Given the description of an element on the screen output the (x, y) to click on. 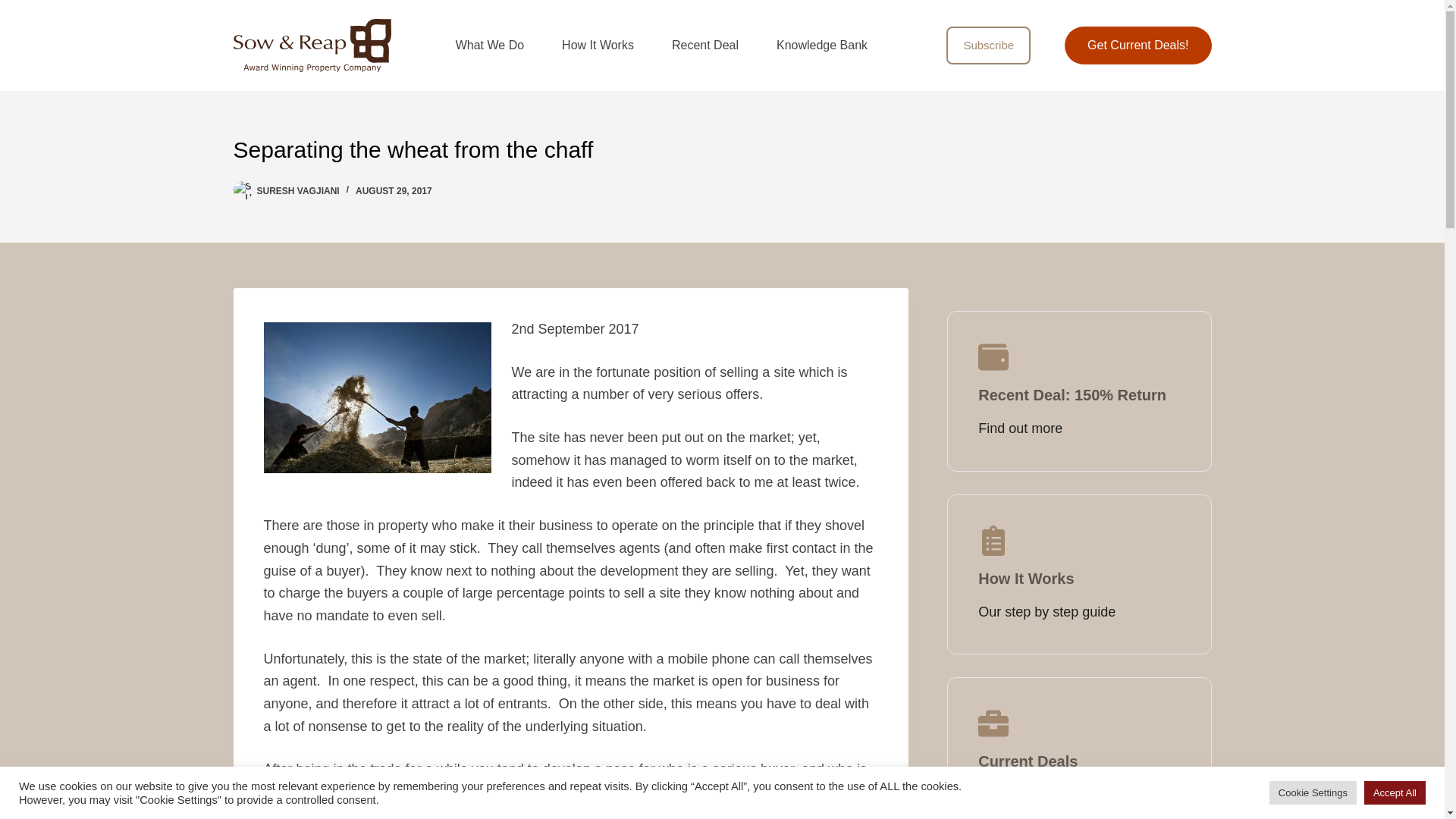
Get Current Deals! (1137, 45)
Recent Deal (704, 45)
Skip to content (15, 7)
SURESH VAGJIANI (297, 190)
Posts by Suresh Vagjiani (297, 190)
Subscribe (988, 45)
What We Do (489, 45)
How It Works (597, 45)
Separating the wheat from the chaff (721, 149)
Knowledge Bank (821, 45)
